Given the description of an element on the screen output the (x, y) to click on. 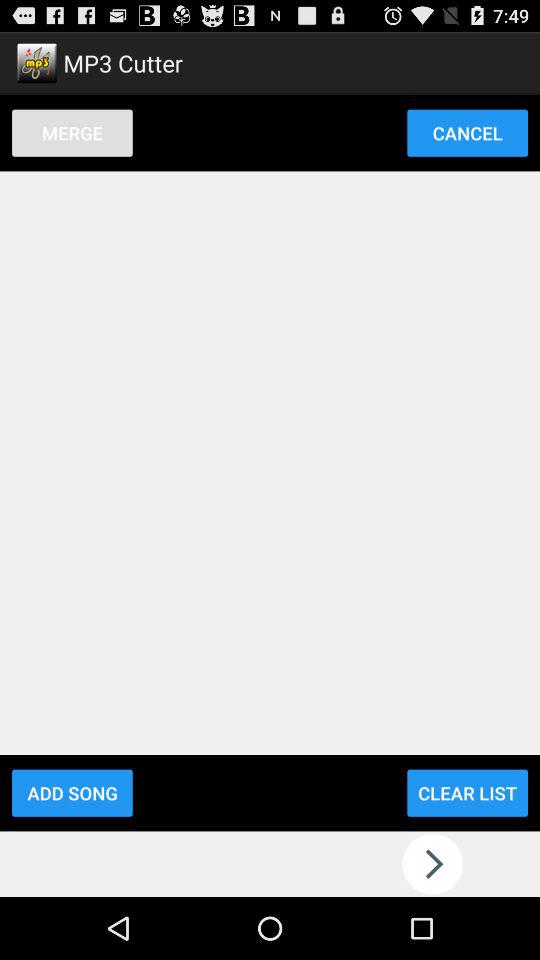
tap the button above the clear list (467, 132)
